Given the description of an element on the screen output the (x, y) to click on. 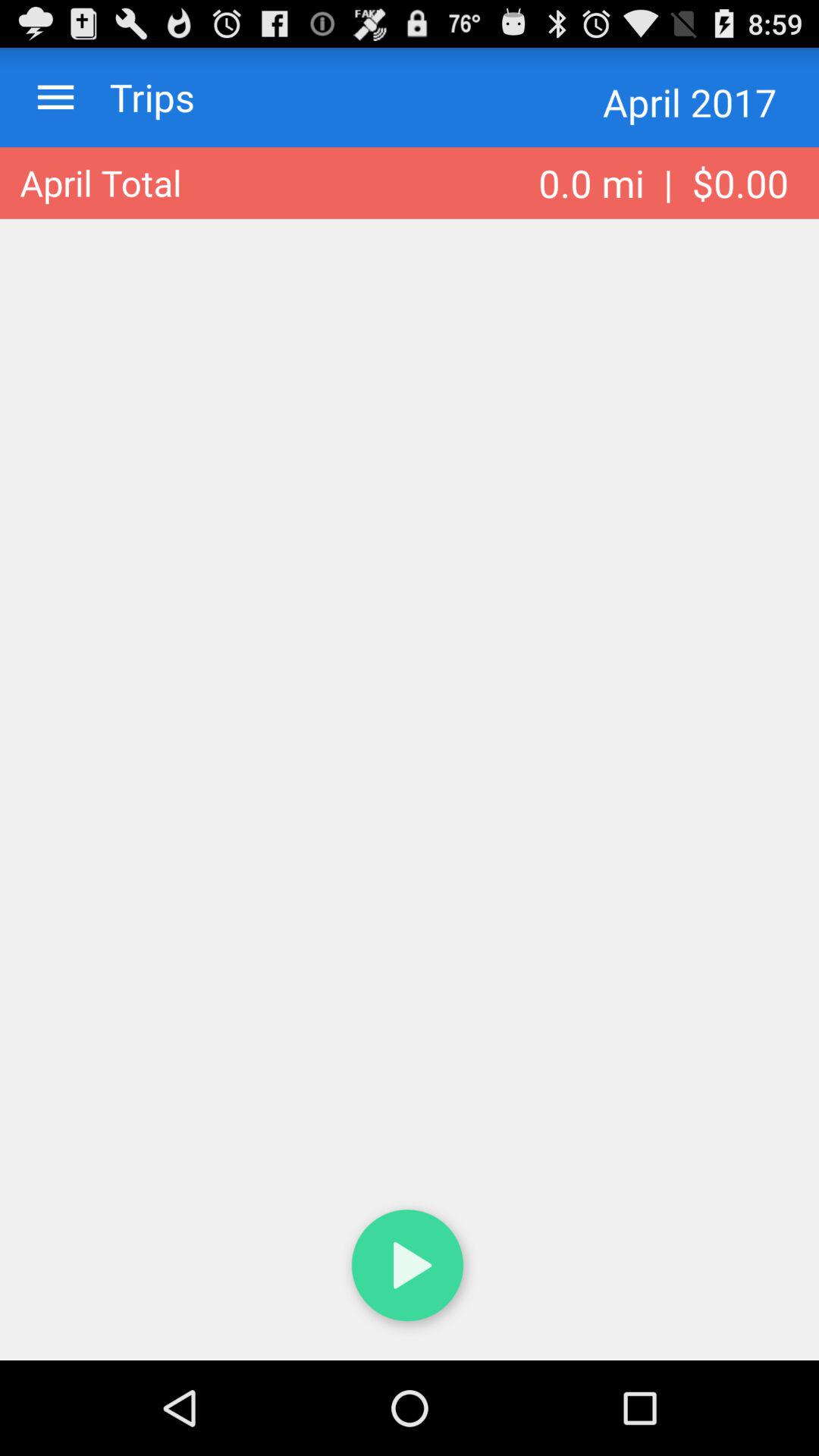
choose icon below the april 2017 (663, 182)
